Given the description of an element on the screen output the (x, y) to click on. 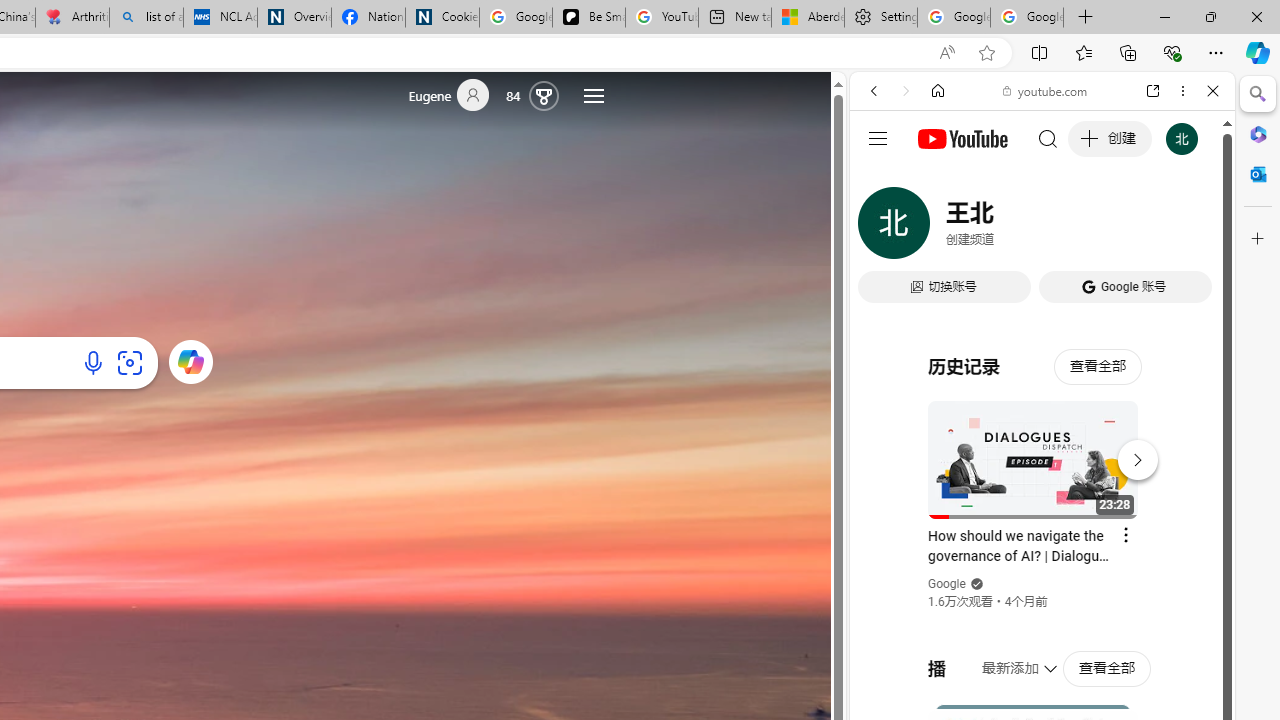
Search videos from youtube.com (1005, 657)
Settings and quick links (594, 95)
